Given the description of an element on the screen output the (x, y) to click on. 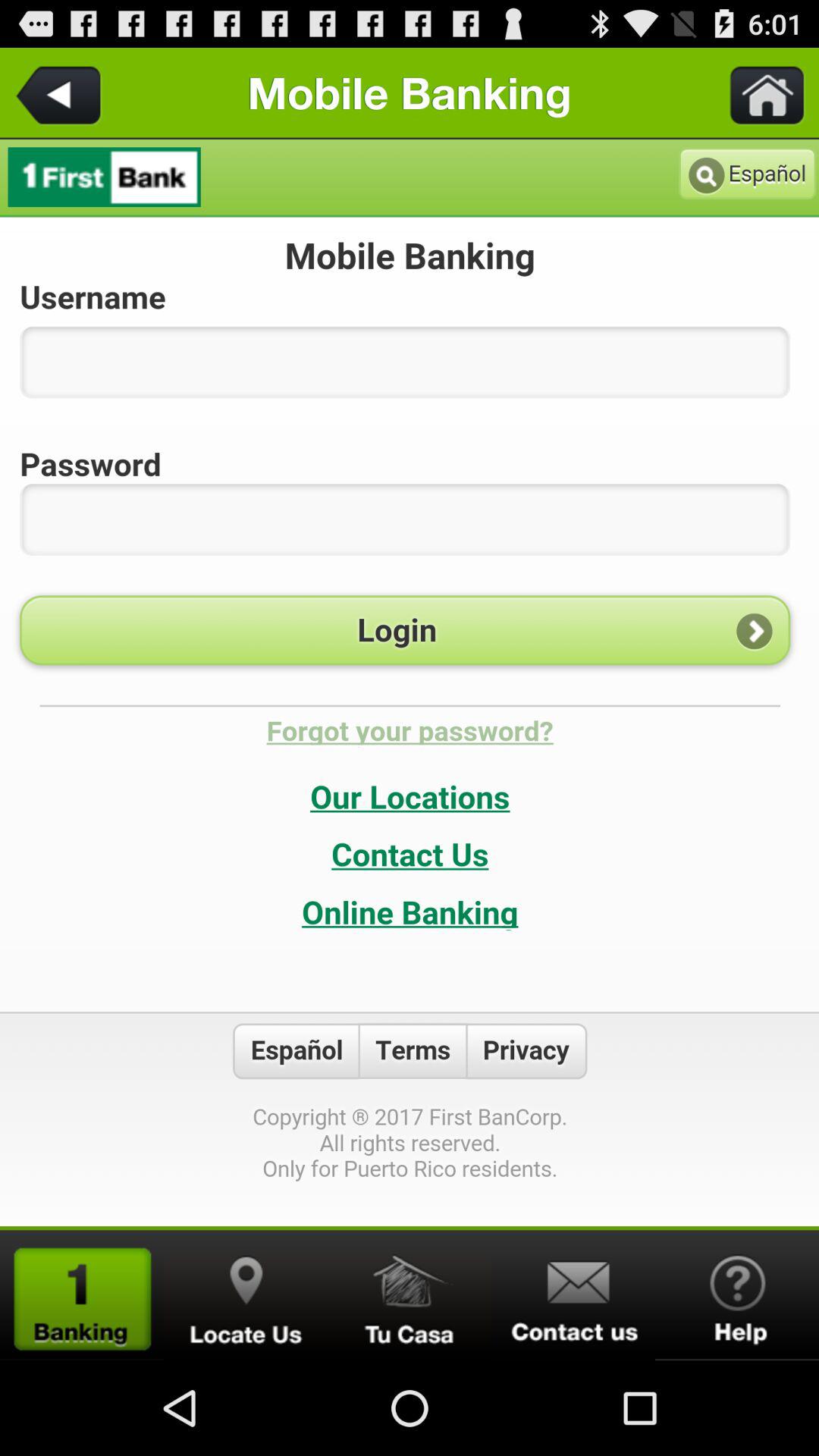
go home (757, 92)
